Given the description of an element on the screen output the (x, y) to click on. 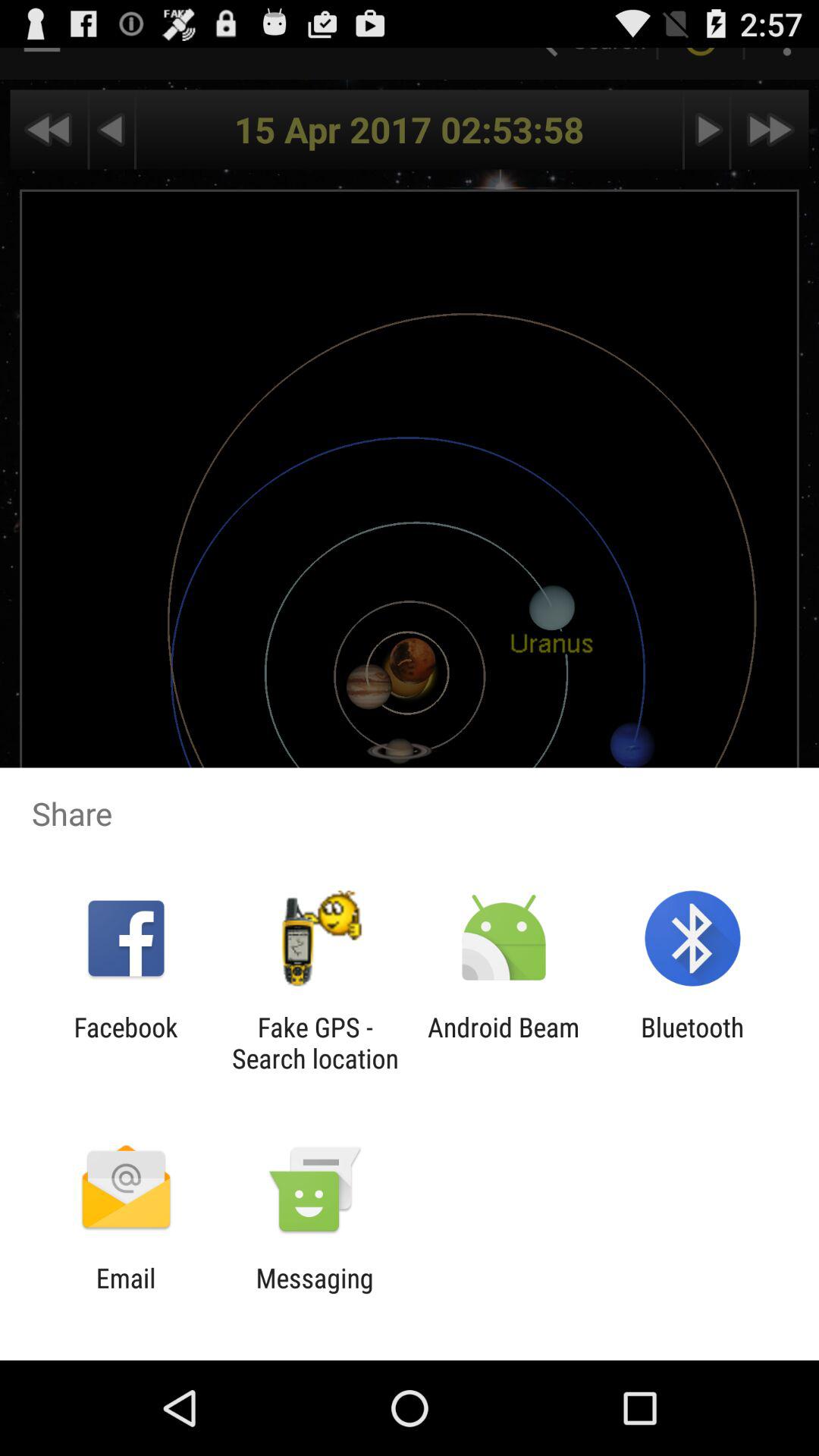
tap the icon next to the fake gps search (503, 1042)
